Given the description of an element on the screen output the (x, y) to click on. 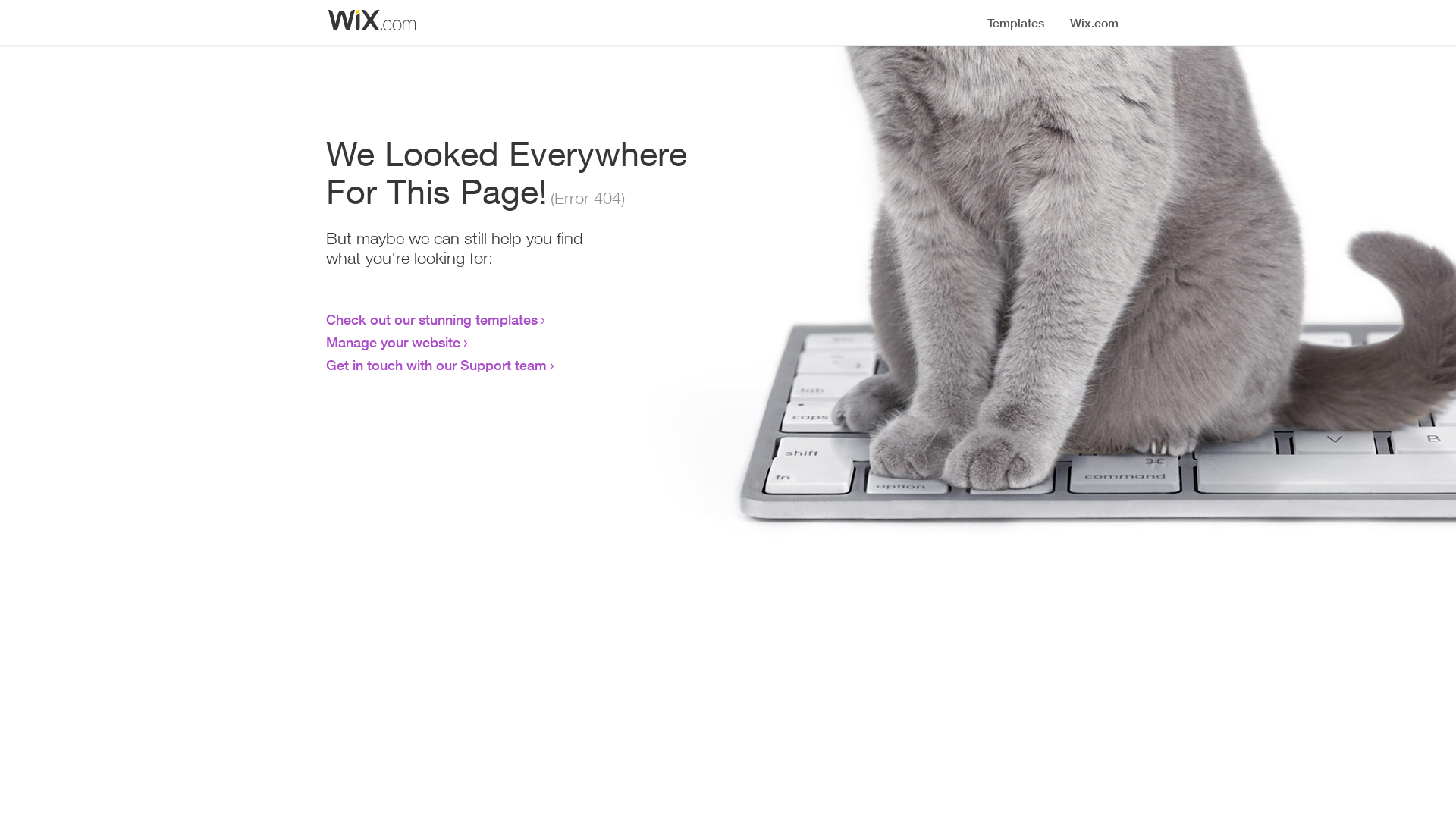
Get in touch with our Support team Element type: text (436, 364)
Manage your website Element type: text (393, 341)
Check out our stunning templates Element type: text (431, 318)
